Given the description of an element on the screen output the (x, y) to click on. 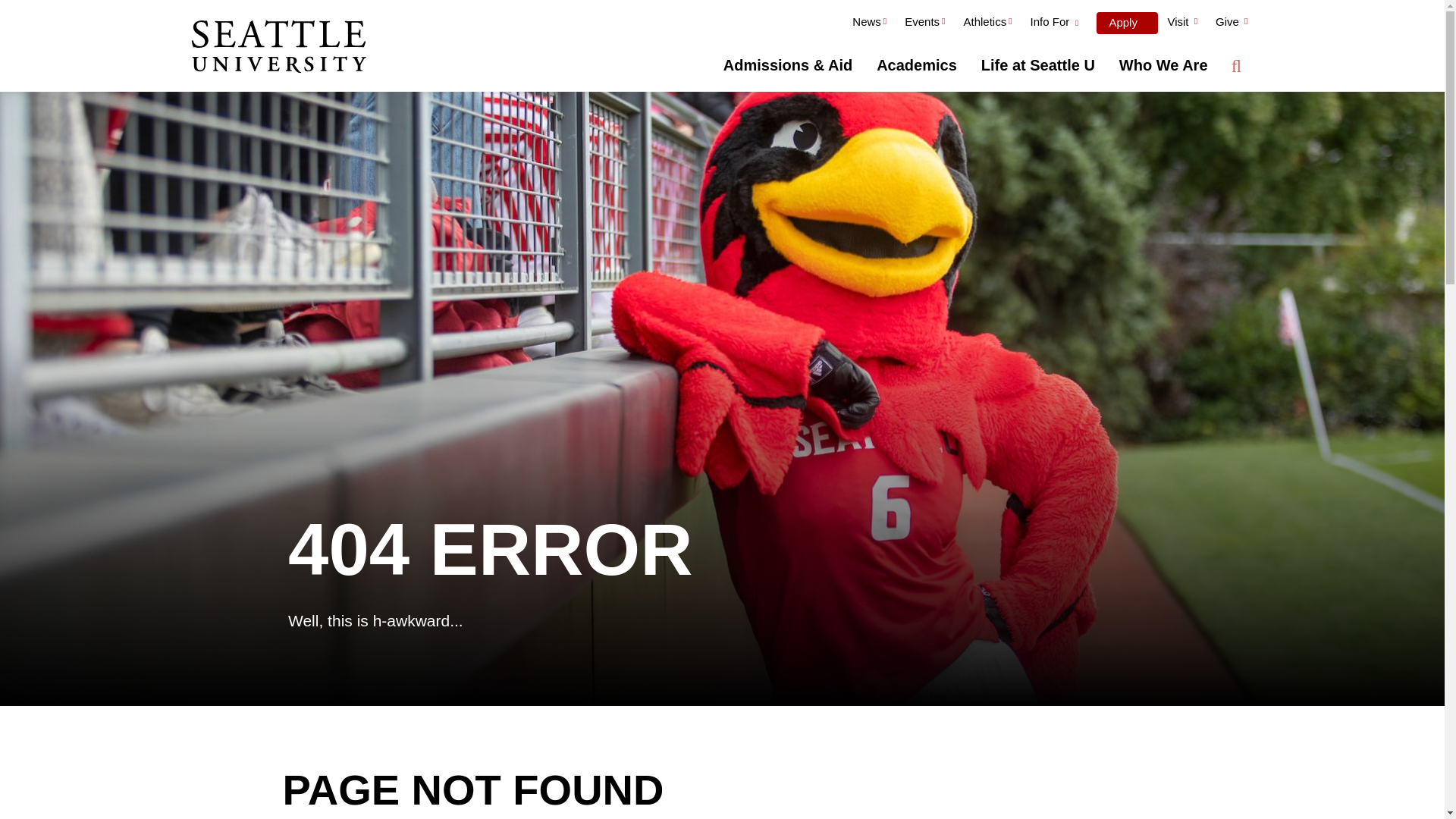
News (869, 23)
Apply (1126, 23)
Academics (916, 65)
Give (1231, 23)
Click to visit the home page (277, 47)
Athletics (986, 23)
Visit (1182, 23)
Events (924, 23)
Life at Seattle U (1037, 65)
